Given the description of an element on the screen output the (x, y) to click on. 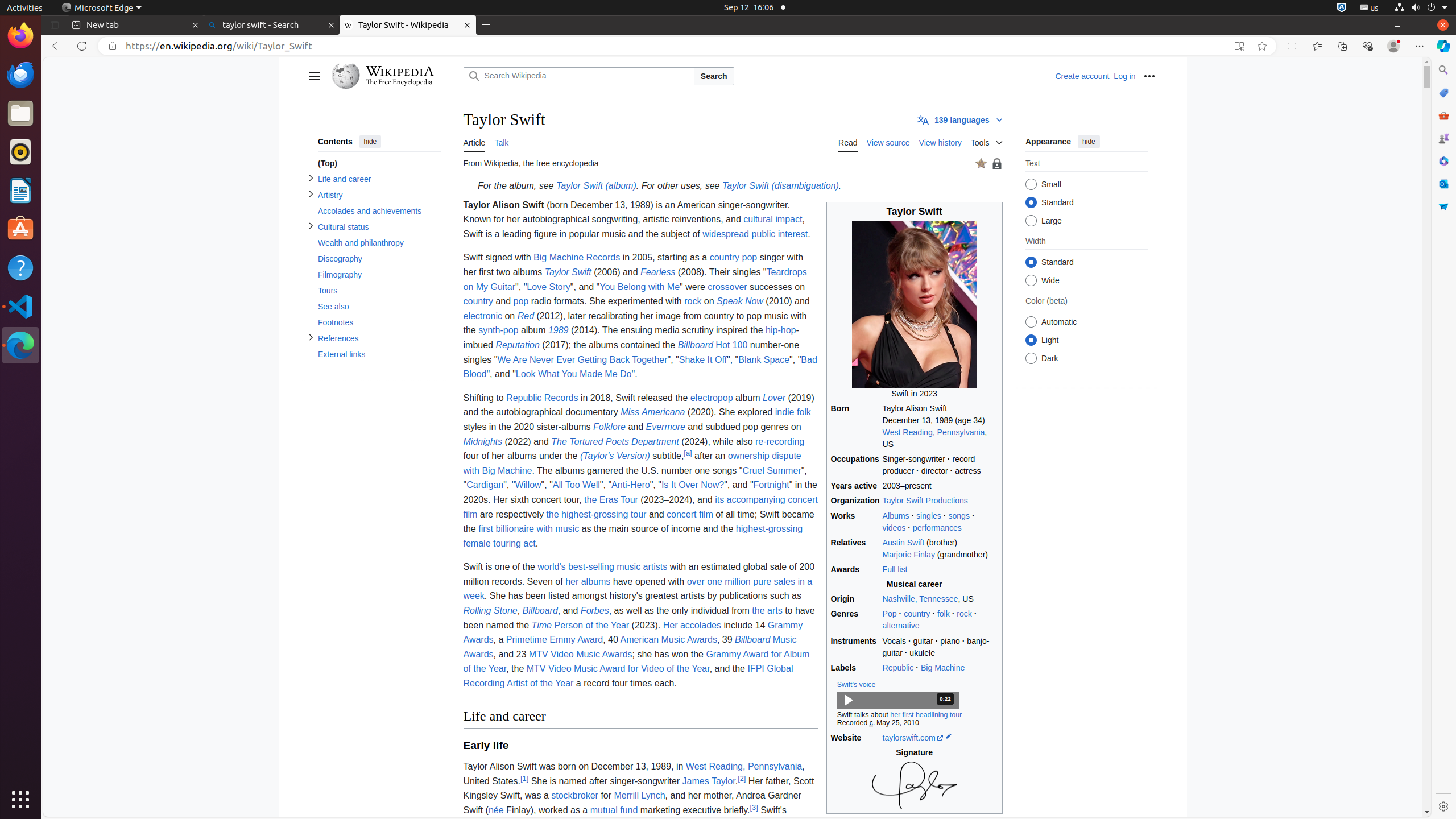
Swift's voice Play audio Duration: 22 seconds. Swift talks about her first headlining tour Recorded c. May 25, 2010 Element type: table-cell (913, 702)
over one million pure sales in a week Element type: link (637, 588)
Time Person of the Year Element type: link (580, 624)
Rolling Stone Element type: link (489, 610)
rock Element type: link (963, 613)
